Given the description of an element on the screen output the (x, y) to click on. 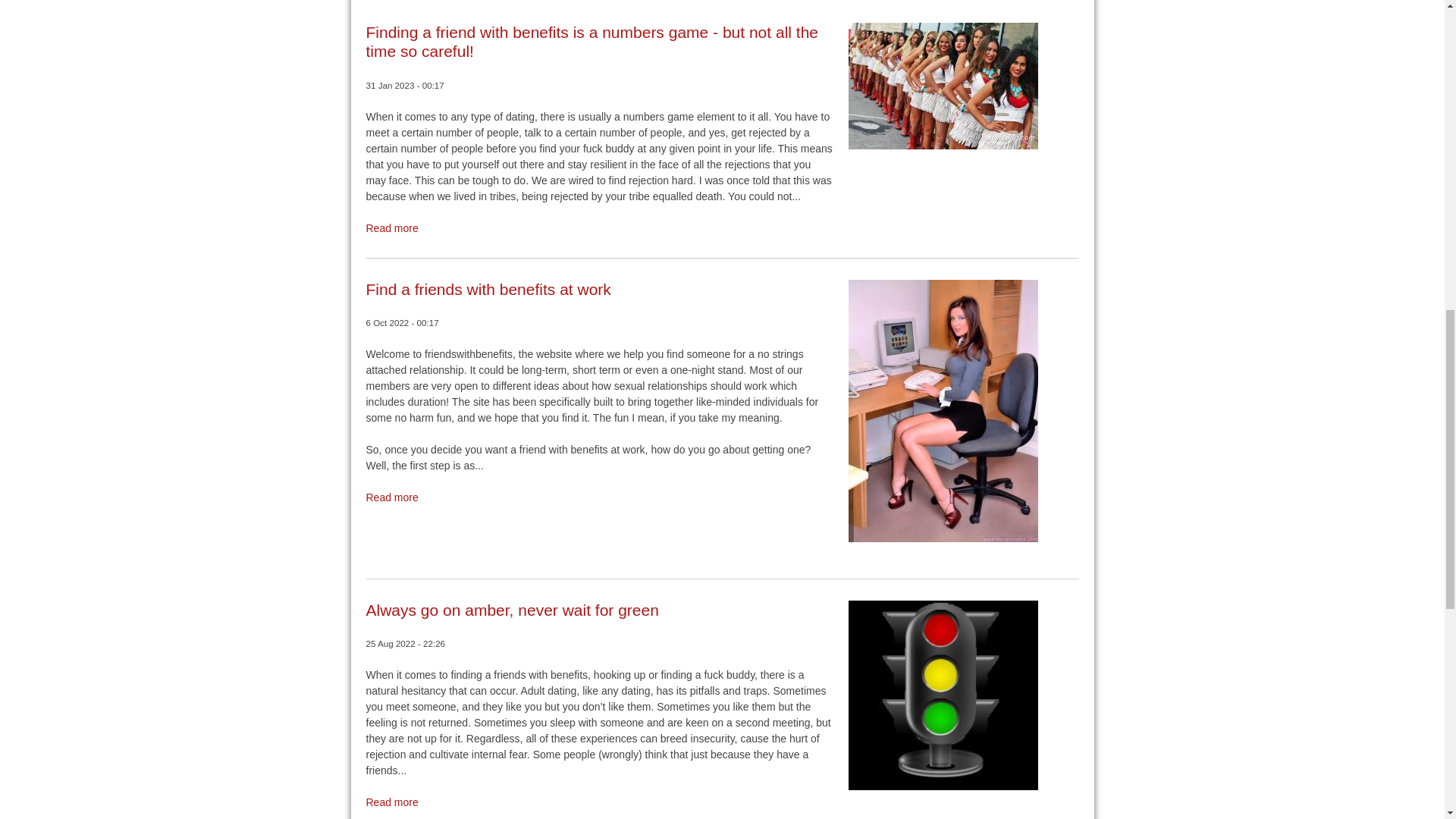
Read more (391, 802)
Read more (391, 497)
Read more (391, 227)
Find a friends with benefits at work (487, 289)
Always go on amber, never wait for green (511, 610)
